Given the description of an element on the screen output the (x, y) to click on. 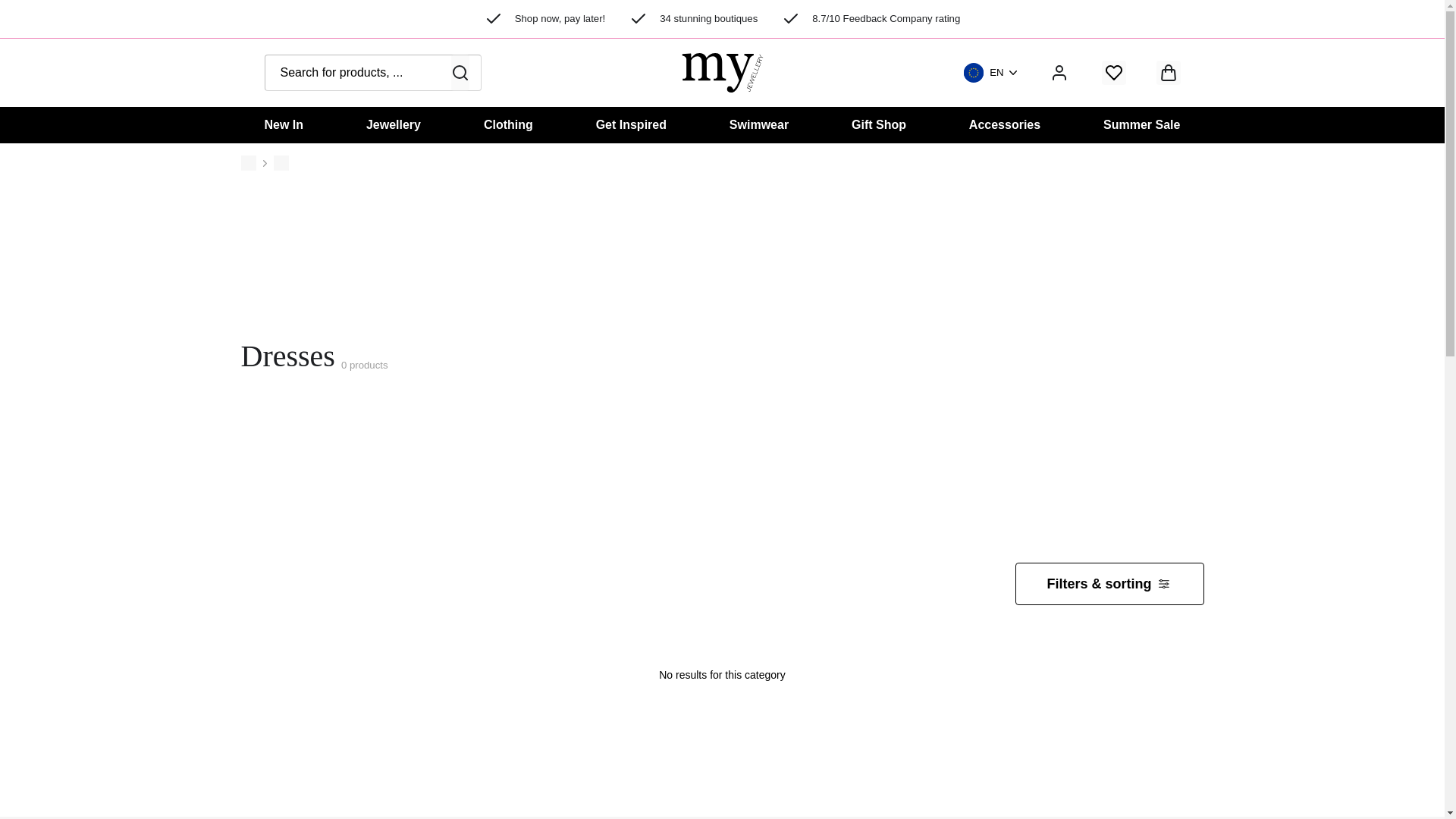
Jewellery (393, 125)
EN (989, 72)
New In (282, 125)
